Given the description of an element on the screen output the (x, y) to click on. 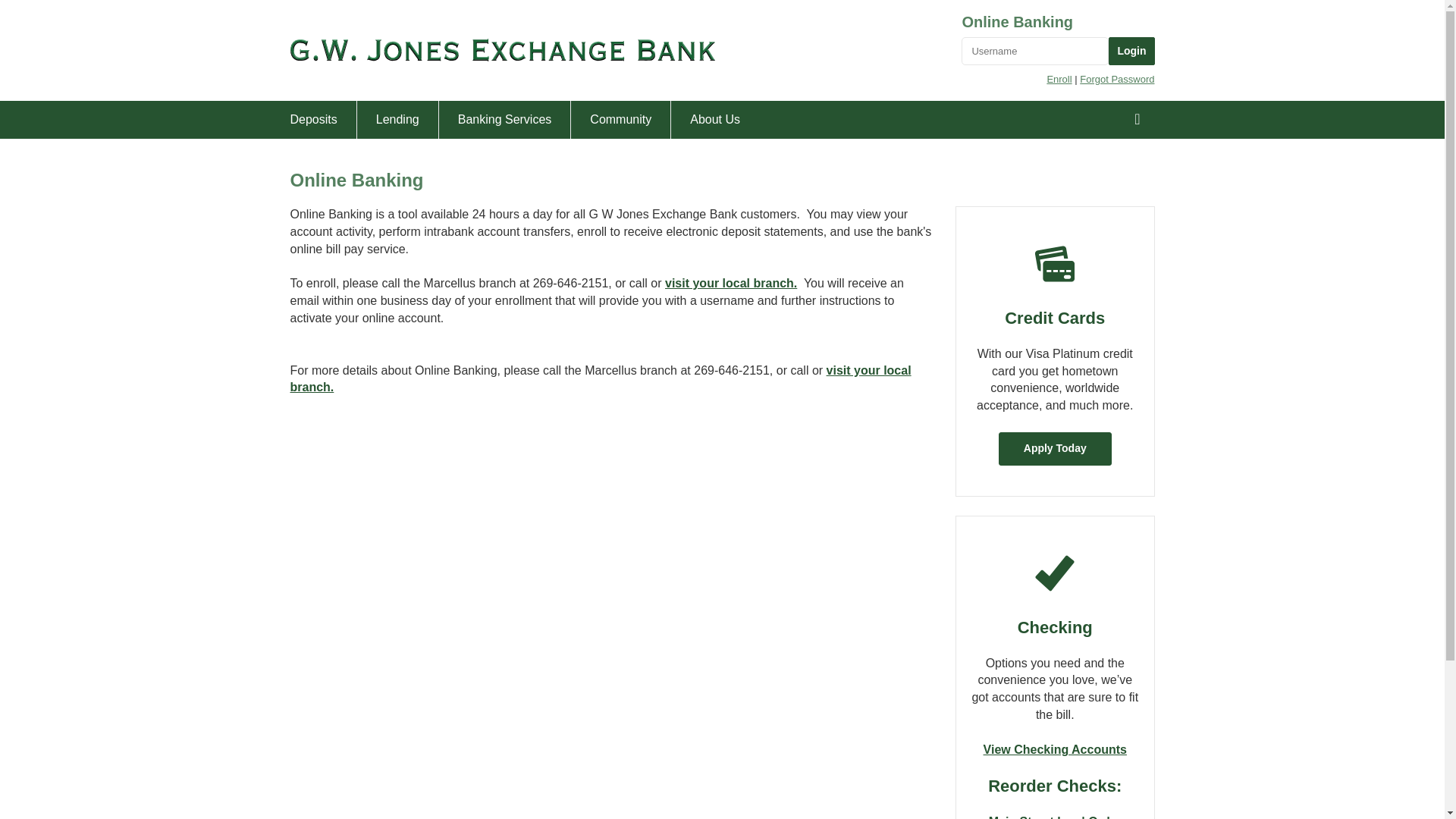
Login (1131, 50)
Forgot Password (1117, 79)
G.W. Jones Exchange Bank, Marcellus, MI (501, 50)
Login (1131, 50)
visit your local branch. (600, 378)
Search icon (1137, 118)
visit your local branch. (730, 282)
Enroll (1058, 79)
Search icon (1137, 117)
